Given the description of an element on the screen output the (x, y) to click on. 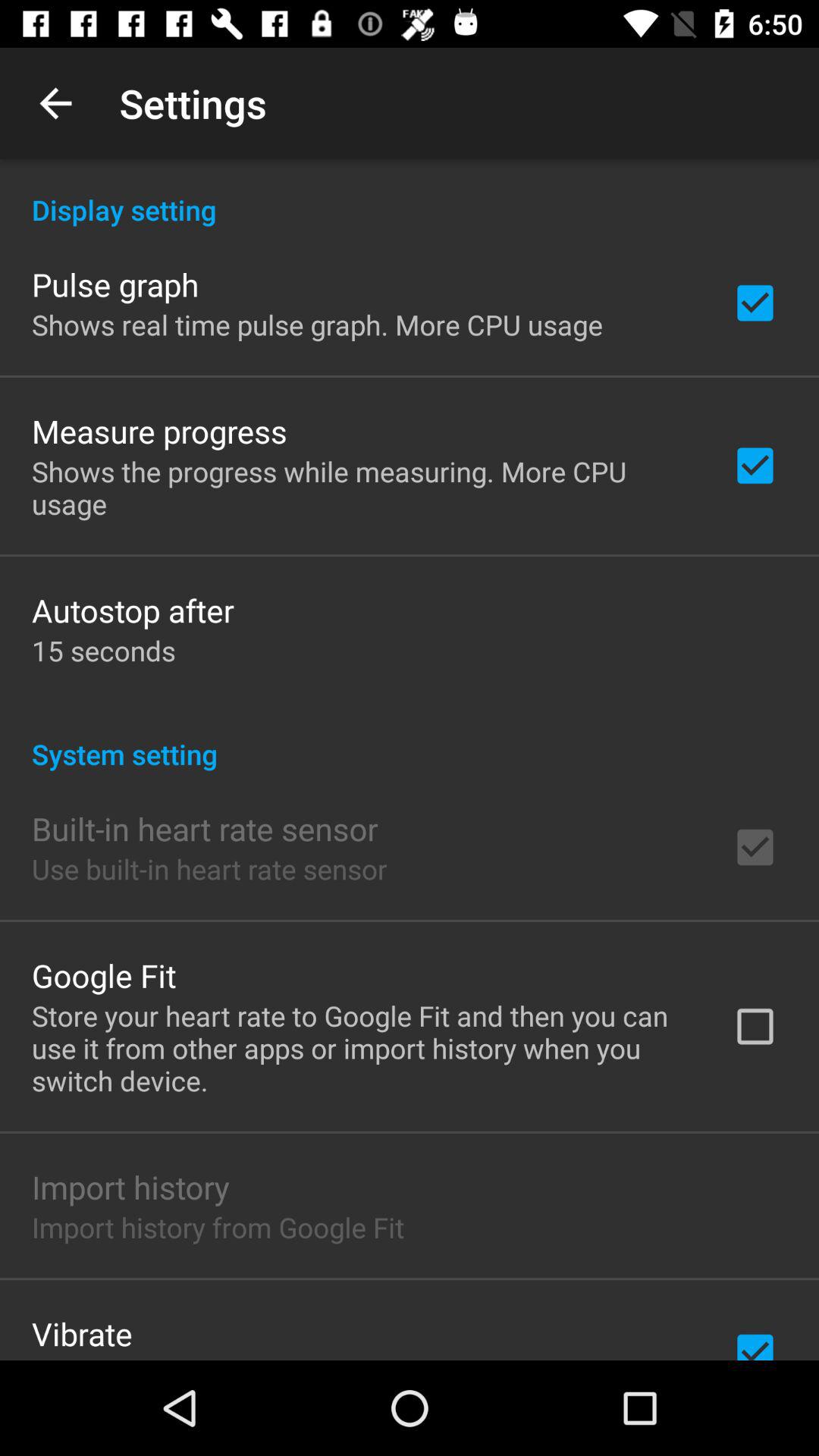
press the display setting item (409, 193)
